Given the description of an element on the screen output the (x, y) to click on. 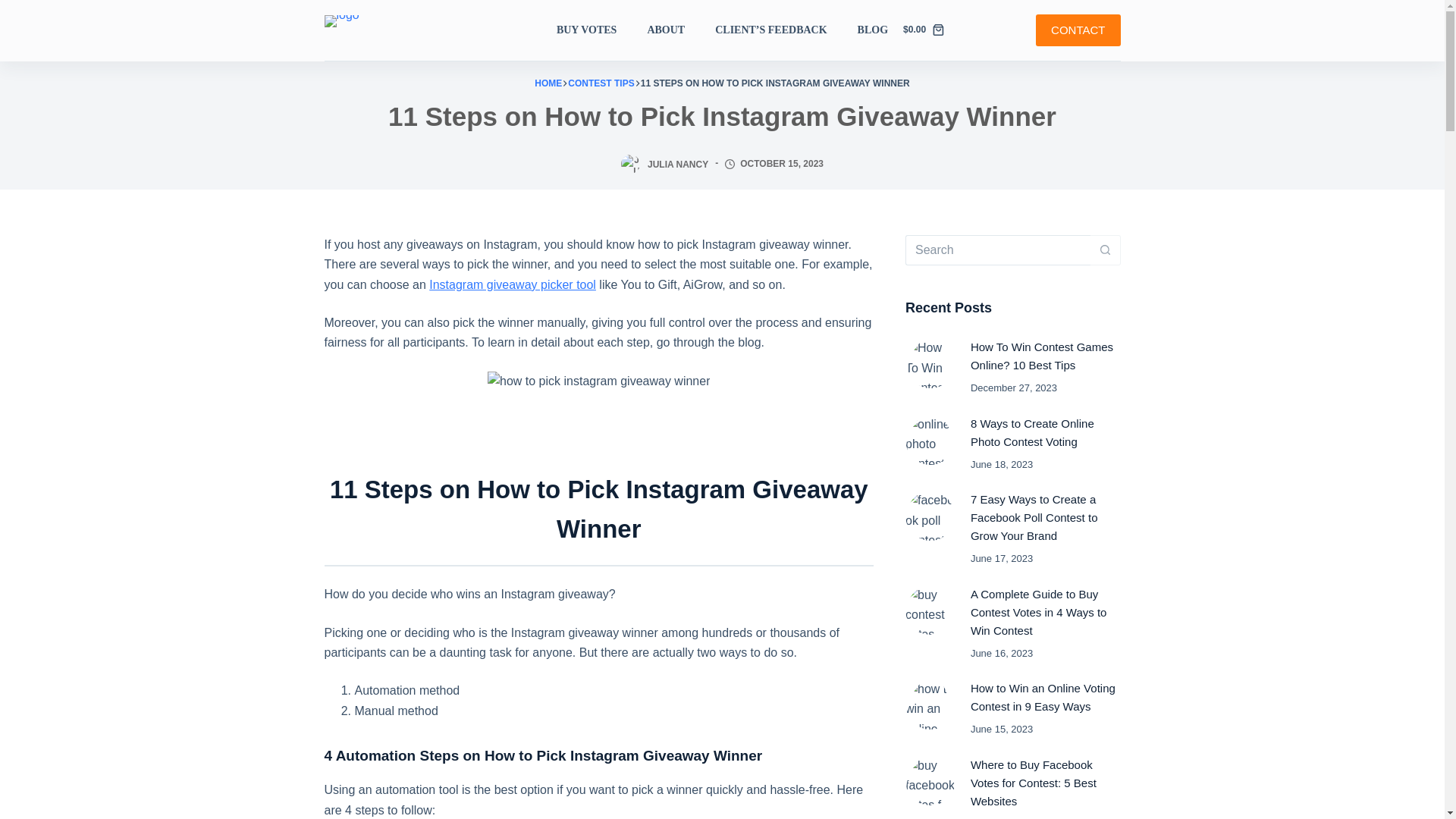
Where to Buy Facebook Votes for Contest: 5 Best Websites (1033, 782)
Skip to content (15, 7)
How To Win Contest Games Online? 10 Best Tips (1042, 355)
BUY VOTES (593, 30)
Posts by Julia Nancy (677, 163)
HOME (548, 82)
Instagram giveaway picker tool (512, 284)
CONTEST TIPS (600, 82)
How to Win an Online Voting Contest in 9 Easy Ways (1043, 696)
ABOUT (665, 30)
CONTACT (1077, 29)
11 Steps on How to Pick Instagram Giveaway Winner (722, 116)
8 Ways to Create Online Photo Contest Voting (1032, 431)
